Given the description of an element on the screen output the (x, y) to click on. 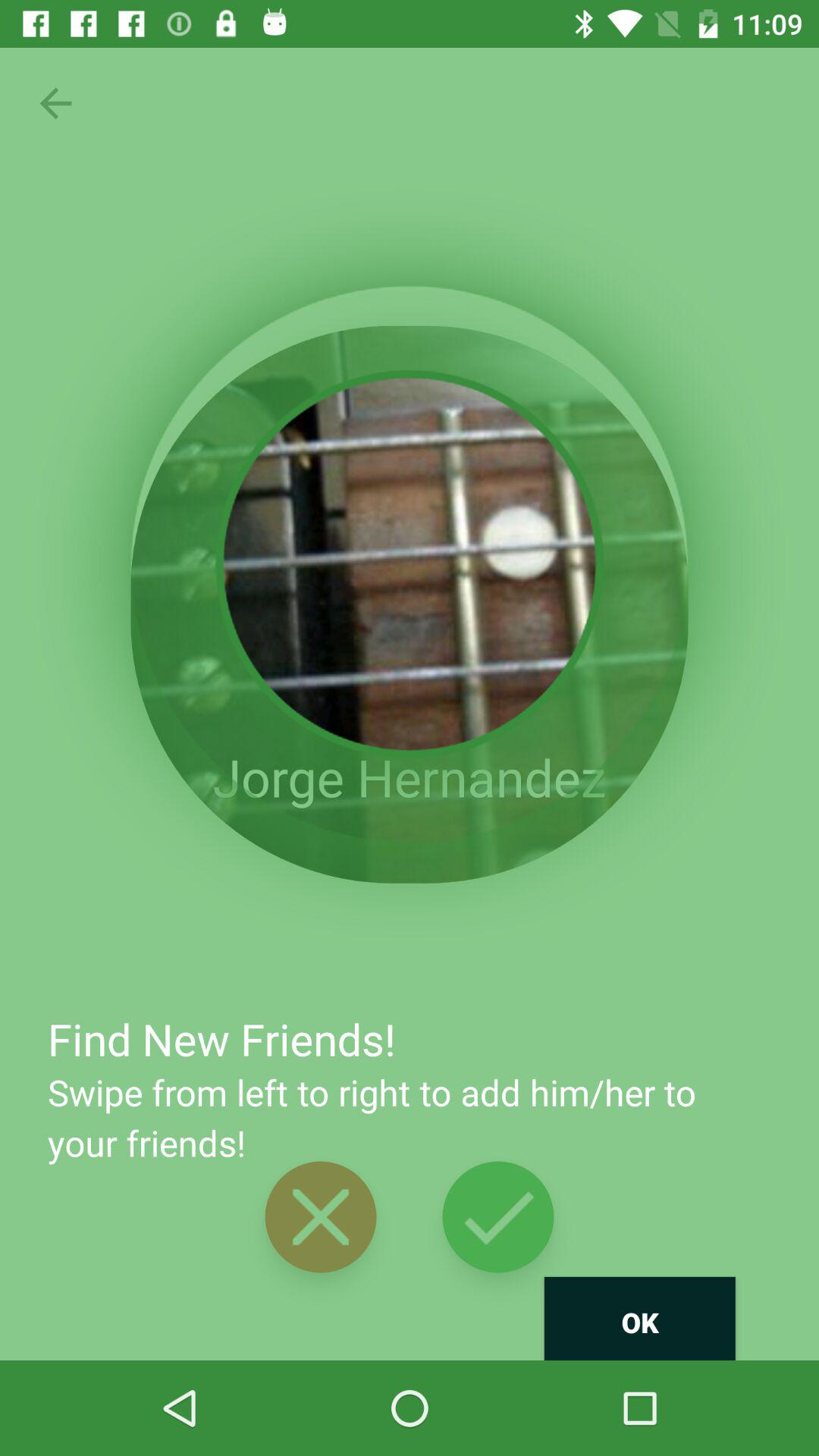
go back (55, 103)
